Given the description of an element on the screen output the (x, y) to click on. 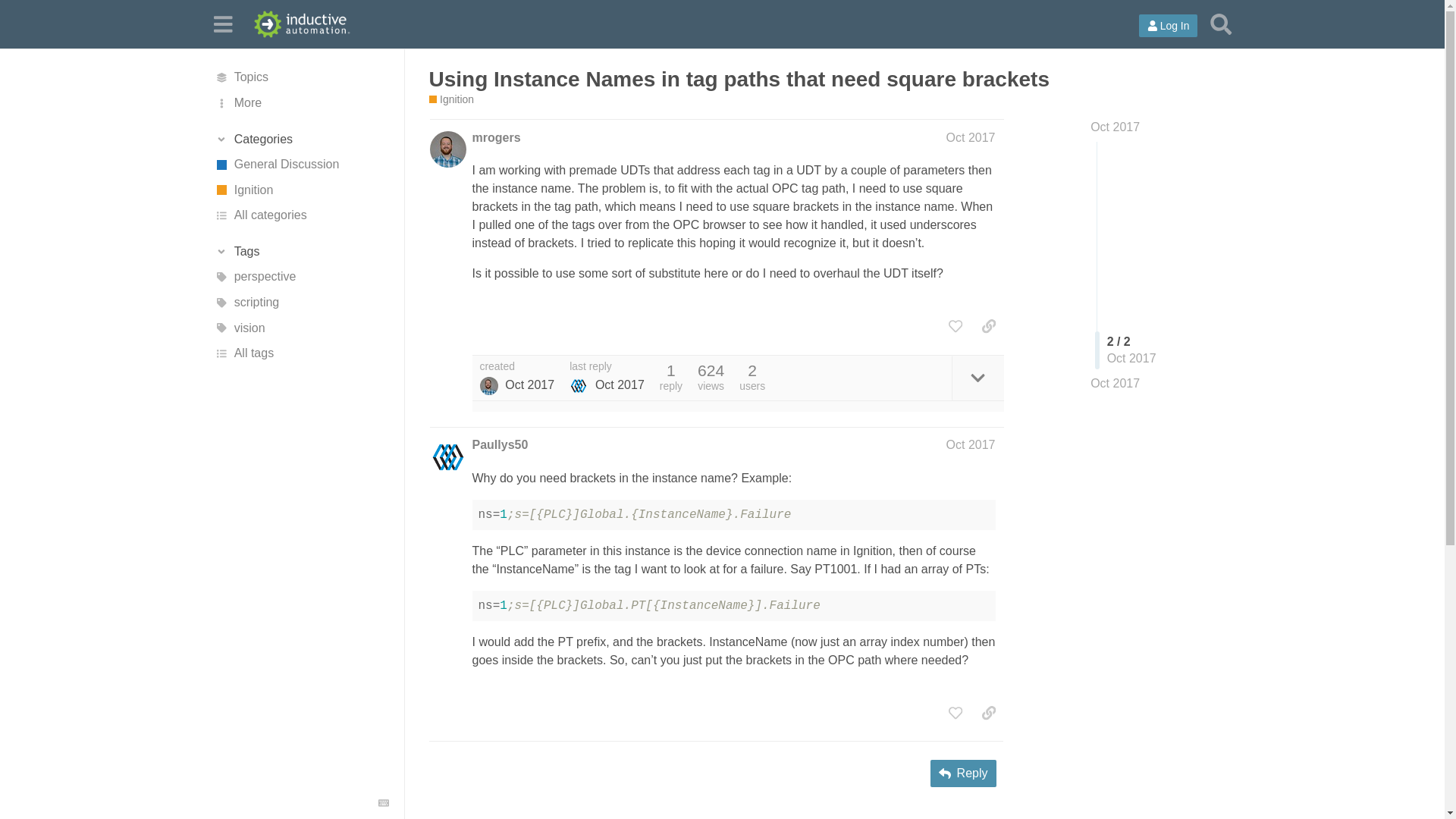
Ignition (451, 99)
All categories (301, 216)
scripting (301, 302)
Topics (301, 77)
Oct 2017 (1115, 126)
Paullys50 (499, 444)
Toggle section (301, 251)
All topics (301, 77)
Using Instance Names in tag paths that need square brackets (739, 78)
Tags (301, 251)
All tags (301, 353)
More (301, 103)
last reply (607, 366)
Oct 2017 (970, 444)
like this post (954, 325)
